Given the description of an element on the screen output the (x, y) to click on. 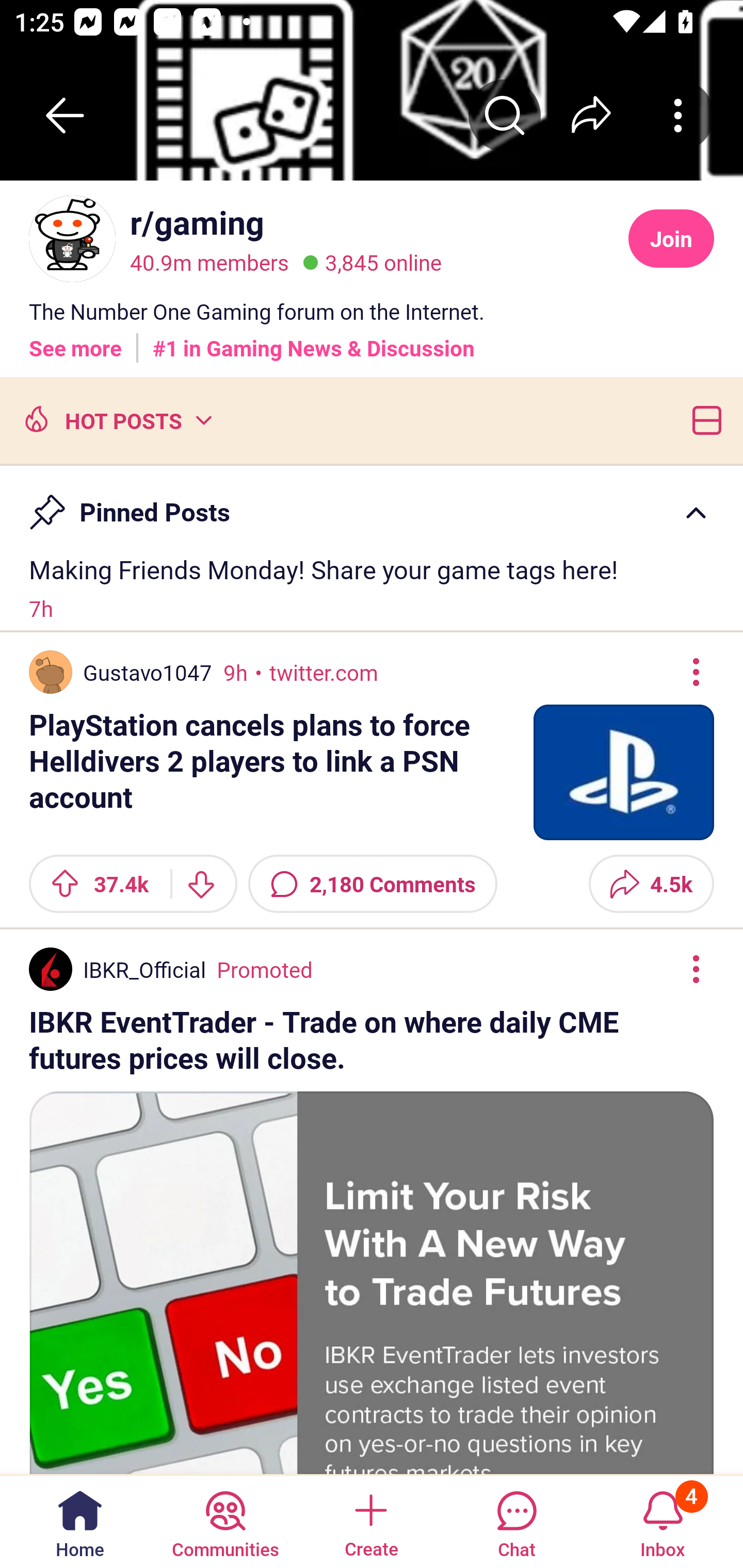
Back (64, 115)
Search r/﻿gaming (504, 115)
Share r/﻿gaming (591, 115)
More community actions (677, 115)
Hot posts HOT POSTS (116, 419)
Card (703, 419)
Pin Pinned Posts Caret (371, 503)
Home (80, 1520)
Communities (225, 1520)
Create a post Create (370, 1520)
Chat (516, 1520)
Inbox, has 4 notifications 4 Inbox (662, 1520)
